Given the description of an element on the screen output the (x, y) to click on. 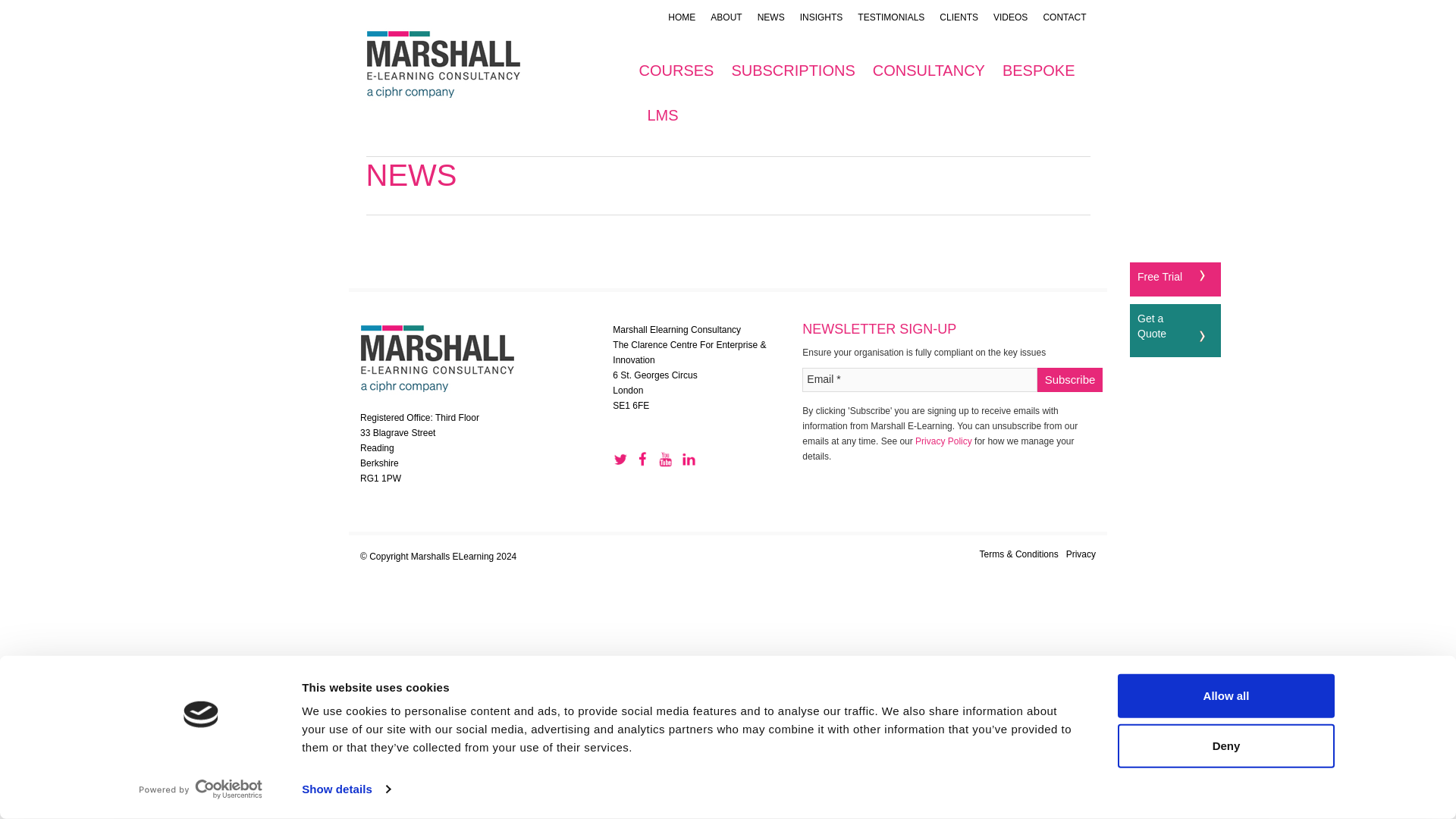
Get a Quote (1151, 325)
Subscribe (1069, 379)
Free Trial (1159, 276)
